Given the description of an element on the screen output the (x, y) to click on. 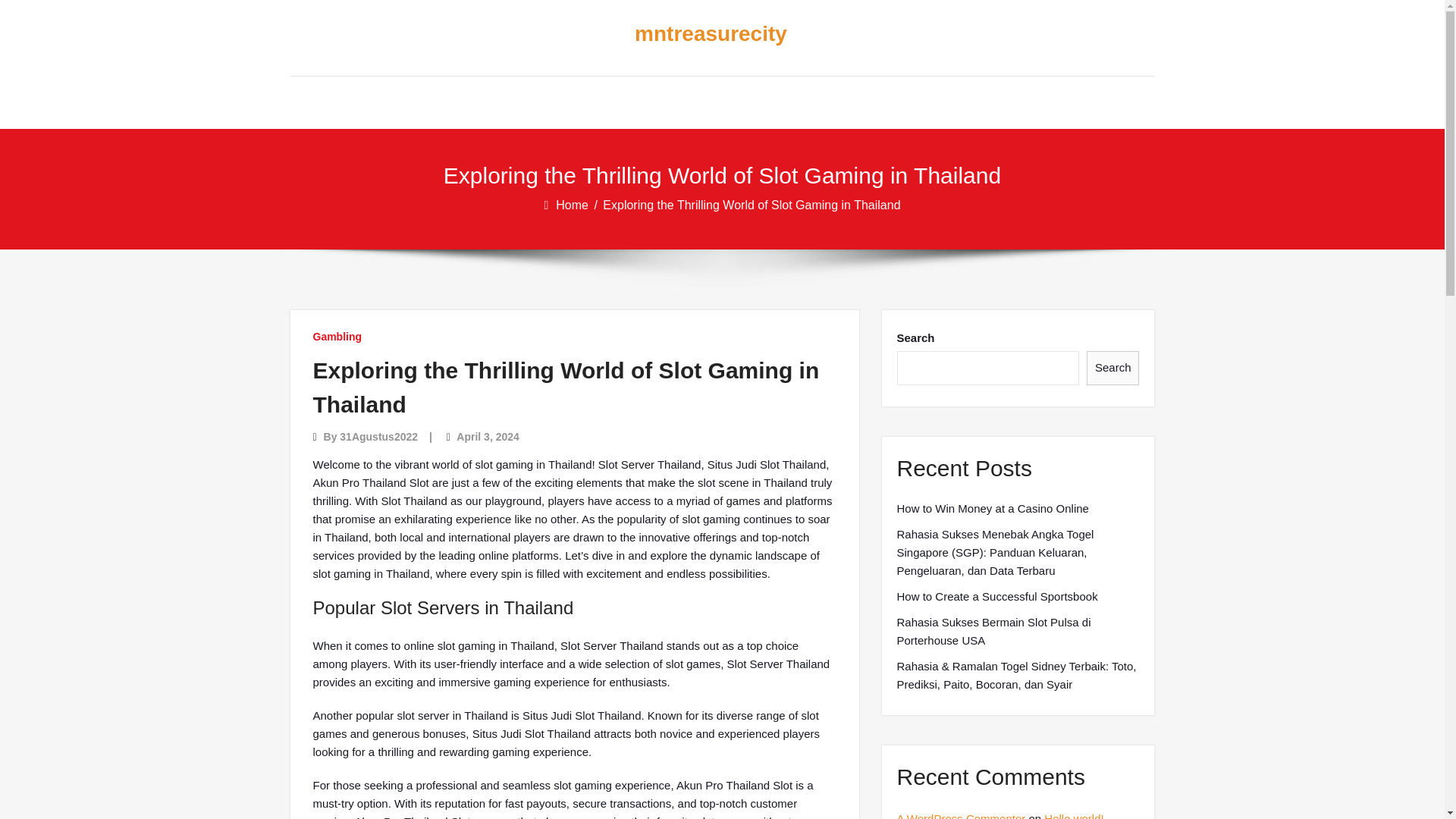
April 3, 2024 (488, 436)
Search (1113, 367)
mntreasurecity (710, 34)
Rahasia Sukses Bermain Slot Pulsa di Porterhouse USA (1017, 631)
Home (573, 205)
How to Create a Successful Sportsbook (996, 597)
Hello world! (1073, 815)
31Agustus2022 (378, 436)
A WordPress Commenter (960, 815)
Gambling (337, 336)
How to Win Money at a Casino Online (991, 508)
